Given the description of an element on the screen output the (x, y) to click on. 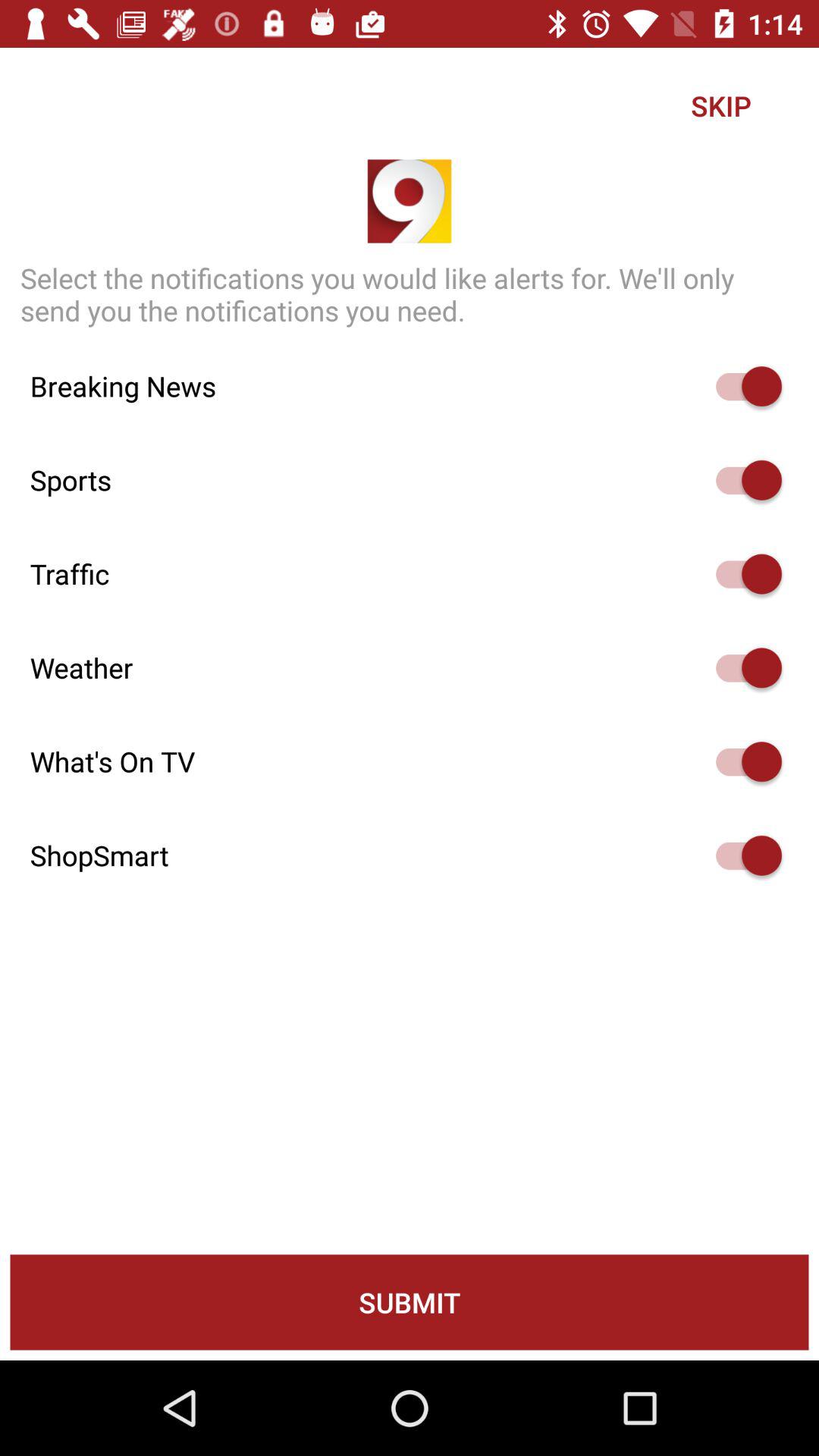
toggle what 's on tv option (741, 761)
